Given the description of an element on the screen output the (x, y) to click on. 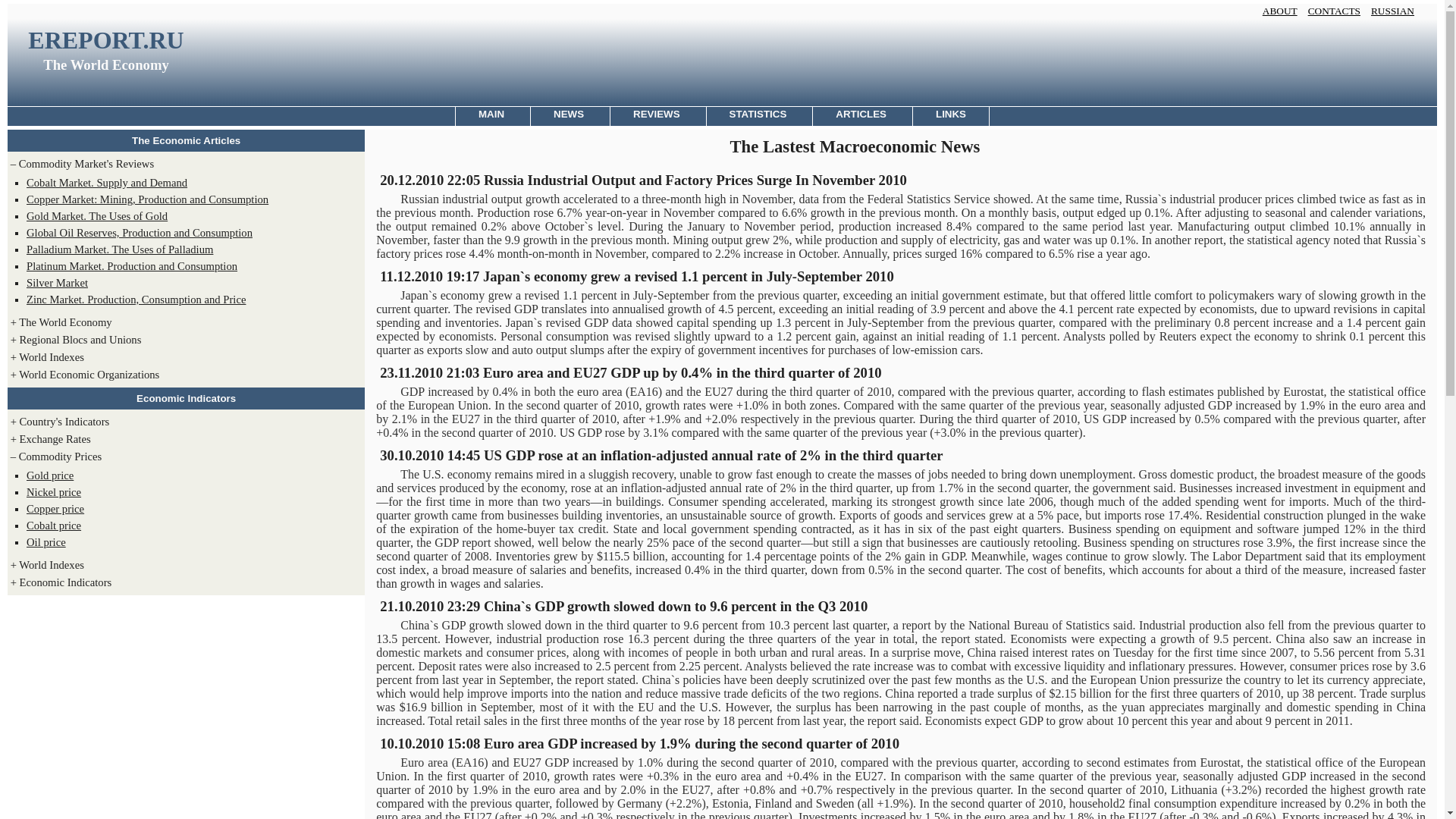
NEWS (568, 116)
MAIN (490, 116)
ARTICLES (860, 116)
REVIEWS (655, 116)
ABOUT (1283, 10)
LINKS (951, 116)
CONTACTS (1337, 10)
RUSSIAN (1404, 10)
STATISTICS (757, 116)
